Given the description of an element on the screen output the (x, y) to click on. 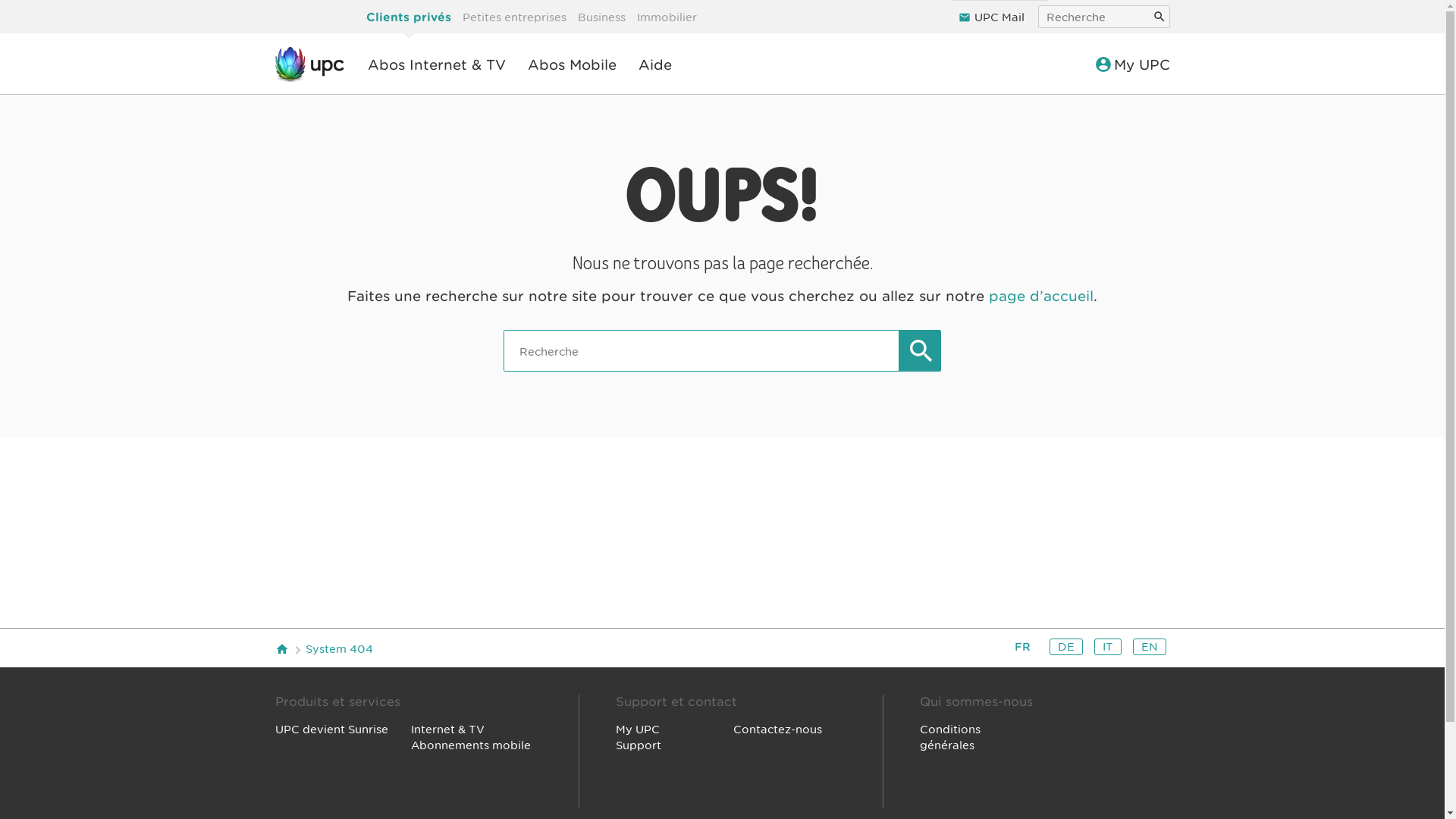
Business Element type: text (600, 16)
IT Element type: text (1107, 646)
Abos Mobile Element type: text (571, 64)
UPC Mail Element type: text (998, 12)
Immobilier Element type: text (665, 16)
Support Element type: text (638, 745)
Aide Element type: text (654, 64)
My UPC Element type: text (1133, 64)
UPC devient Sunrise Element type: text (331, 729)
Petites entreprises Element type: text (513, 16)
Internet & TV Element type: text (447, 729)
EN Element type: text (1148, 646)
Abos Internet & TV Element type: text (435, 64)
DE Element type: text (1065, 646)
Abonnements mobile Element type: text (470, 745)
Contactez-nous Element type: text (777, 729)
My UPC Element type: text (637, 729)
